Given the description of an element on the screen output the (x, y) to click on. 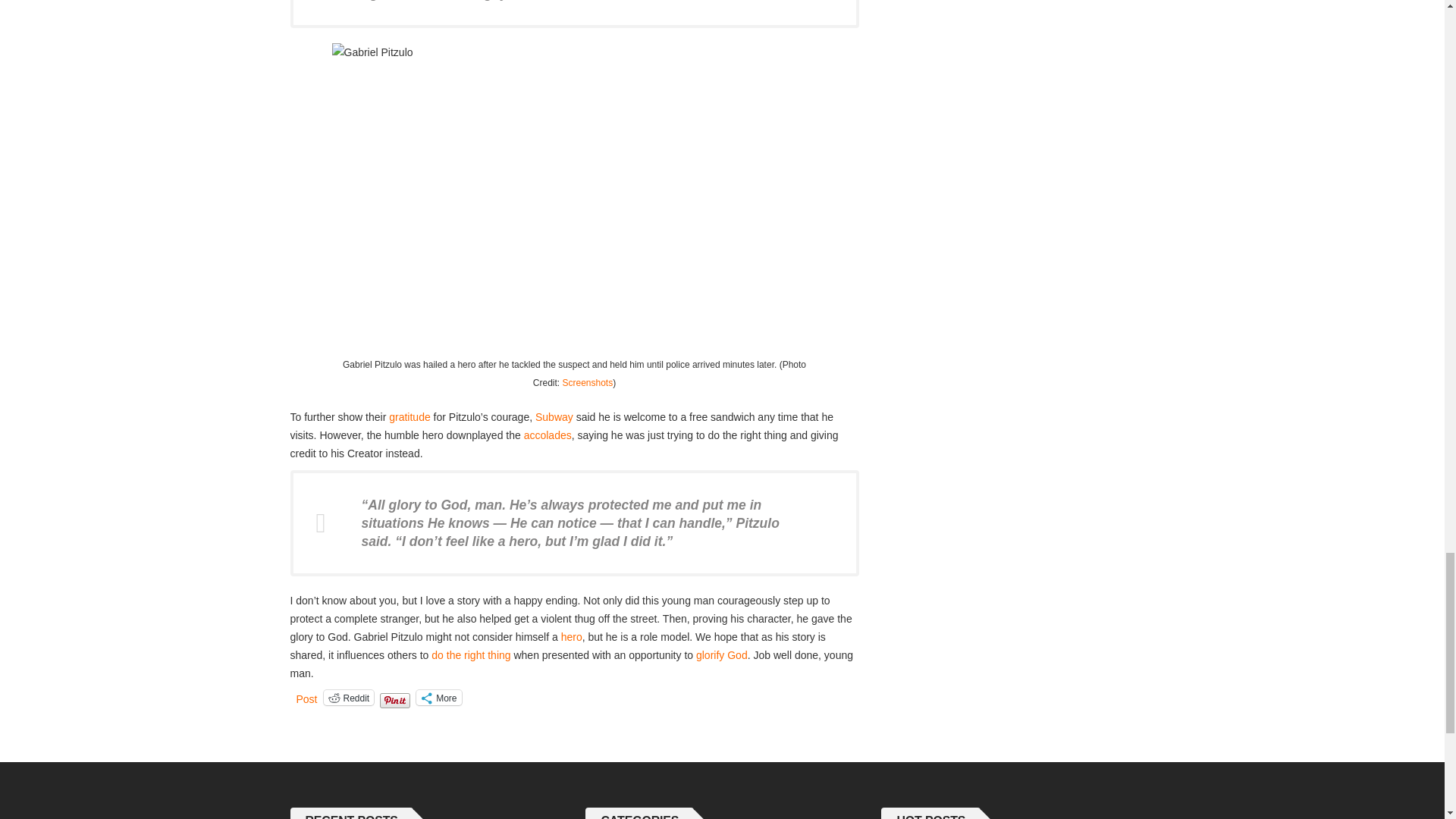
Screenshots (587, 382)
Subway (554, 417)
Click to share on Reddit (348, 697)
gratitude (408, 417)
accolades (548, 435)
